Given the description of an element on the screen output the (x, y) to click on. 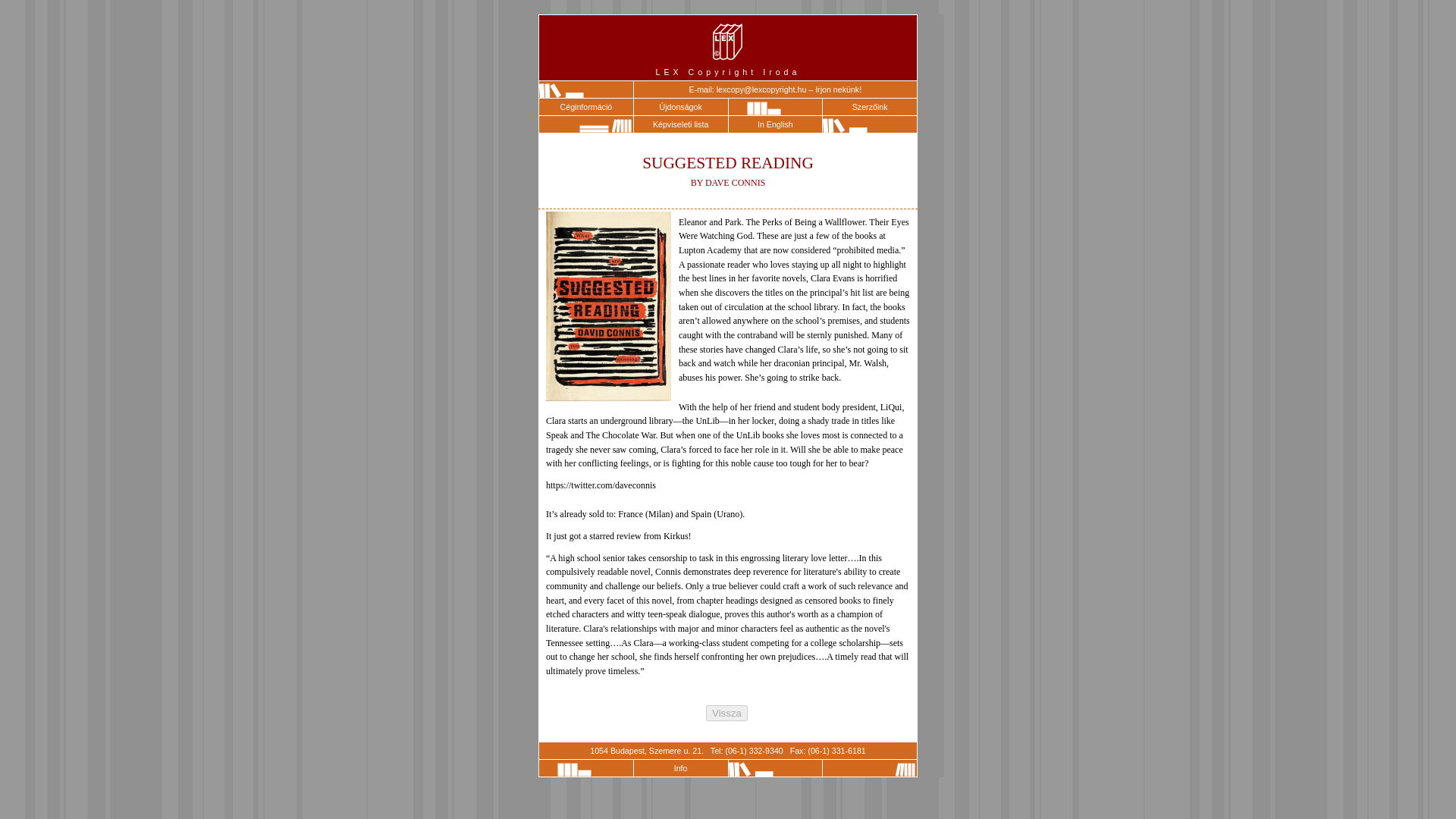
Vissza (727, 713)
In English (775, 124)
Info (680, 768)
LEX Copyright Iroda (727, 47)
